Given the description of an element on the screen output the (x, y) to click on. 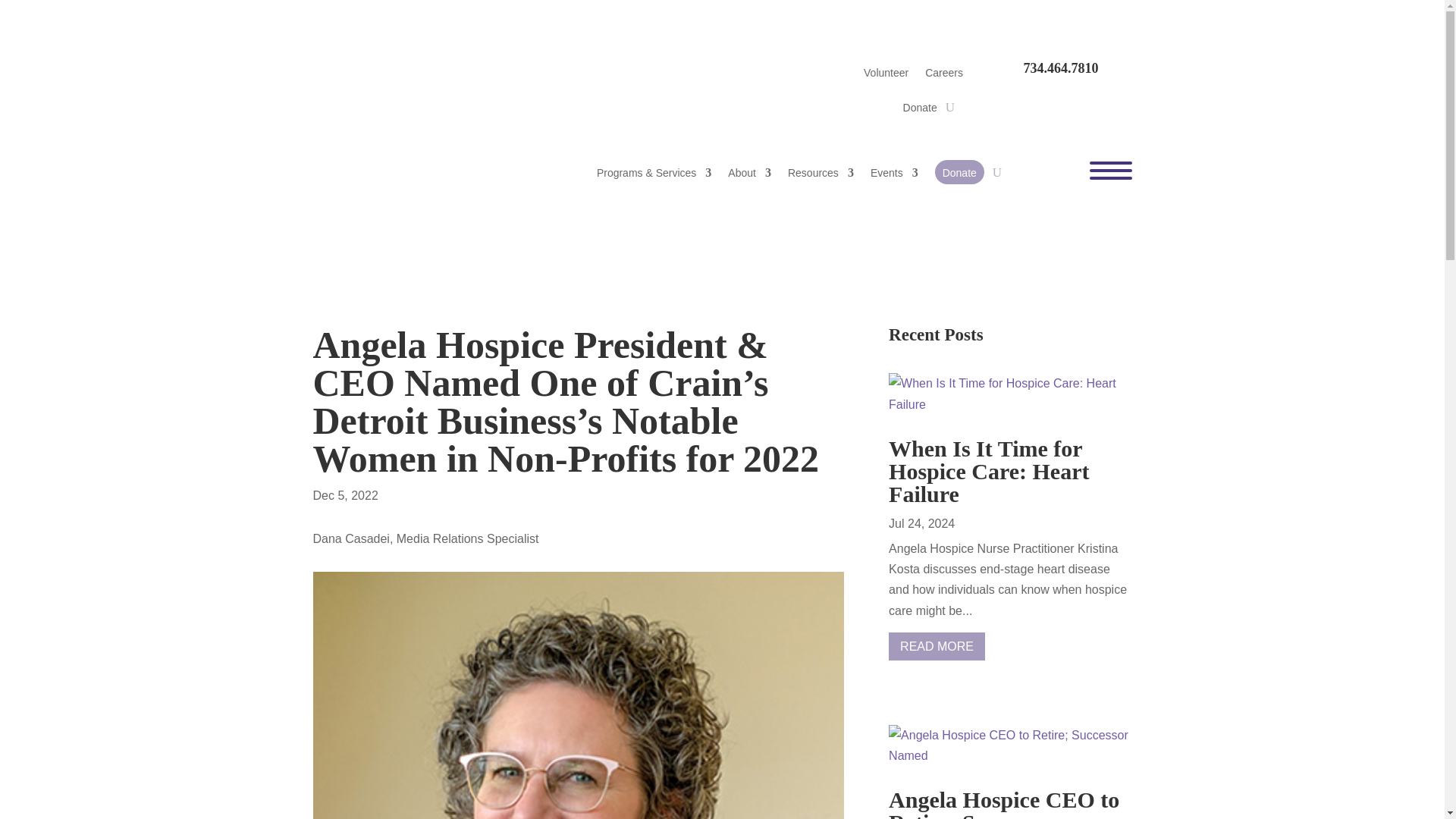
Volunteer (885, 75)
Careers (943, 75)
Marti-Coplai-400 (578, 695)
